Given the description of an element on the screen output the (x, y) to click on. 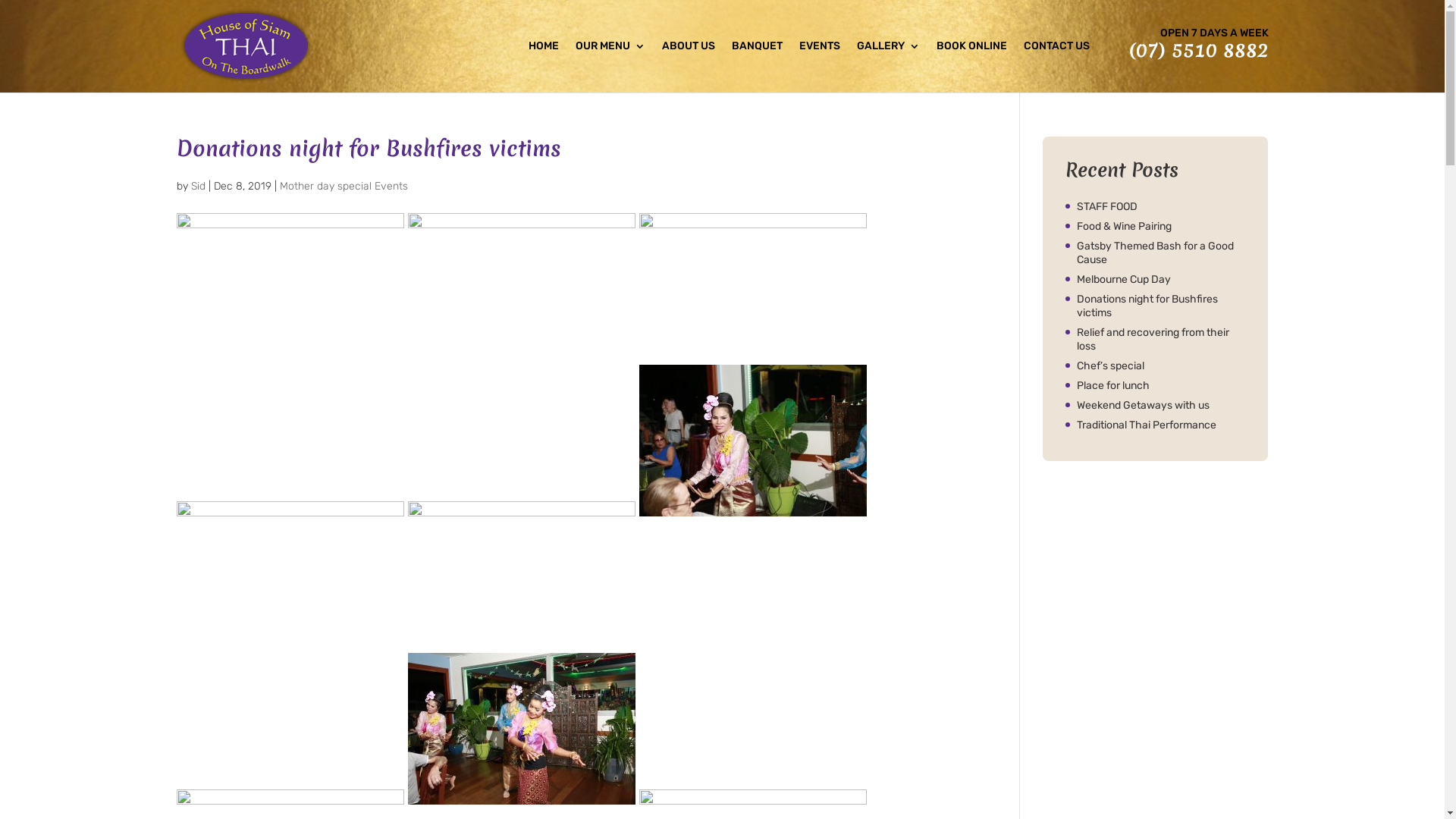
Place for lunch Element type: text (1160, 385)
Gatsby Themed Bash for a Good Cause Element type: text (1160, 252)
EVENTS Element type: text (819, 66)
Weekend Getaways with us Element type: text (1160, 405)
OUR MENU Element type: text (609, 66)
Mother day special Events Element type: text (343, 185)
BANQUET Element type: text (756, 66)
STAFF FOOD Element type: text (1160, 206)
BOOK ONLINE Element type: text (970, 66)
(07) 5510 8882 Element type: text (1197, 49)
HOME Element type: text (542, 66)
GALLERY Element type: text (887, 66)
ABOUT US Element type: text (687, 66)
Relief and recovering from their loss Element type: text (1160, 339)
Melbourne Cup Day Element type: text (1160, 279)
Food & Wine Pairing Element type: text (1160, 226)
Traditional Thai Performance Element type: text (1160, 425)
CONTACT US Element type: text (1056, 66)
Donations night for Bushfires victims Element type: text (1160, 306)
Sid Element type: text (198, 185)
